Given the description of an element on the screen output the (x, y) to click on. 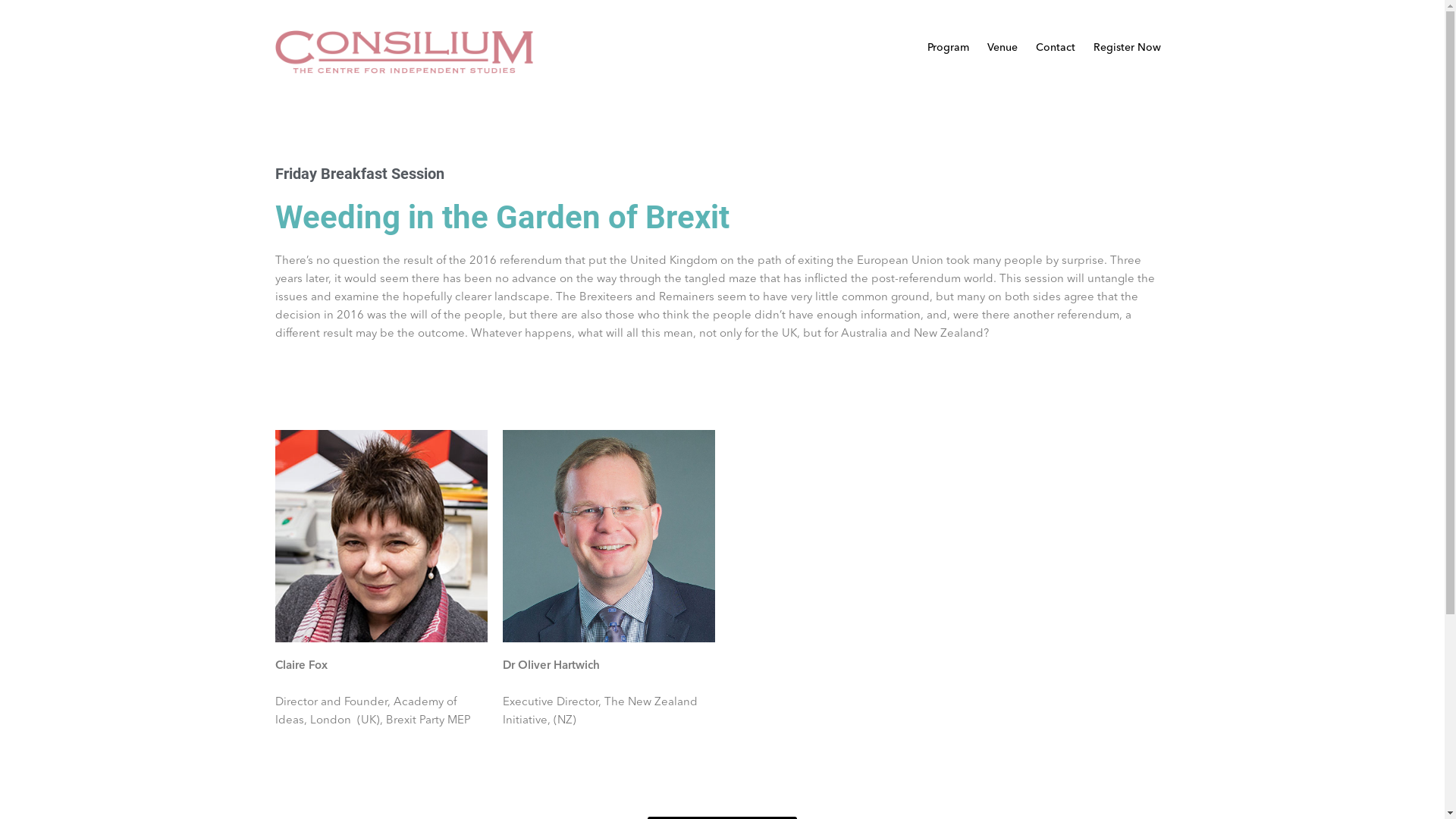
Venue Element type: text (1002, 47)
Contact Element type: text (1055, 47)
Register Now Element type: text (1127, 47)
logo (1) Element type: hover (403, 51)
Program Element type: text (947, 47)
